Given the description of an element on the screen output the (x, y) to click on. 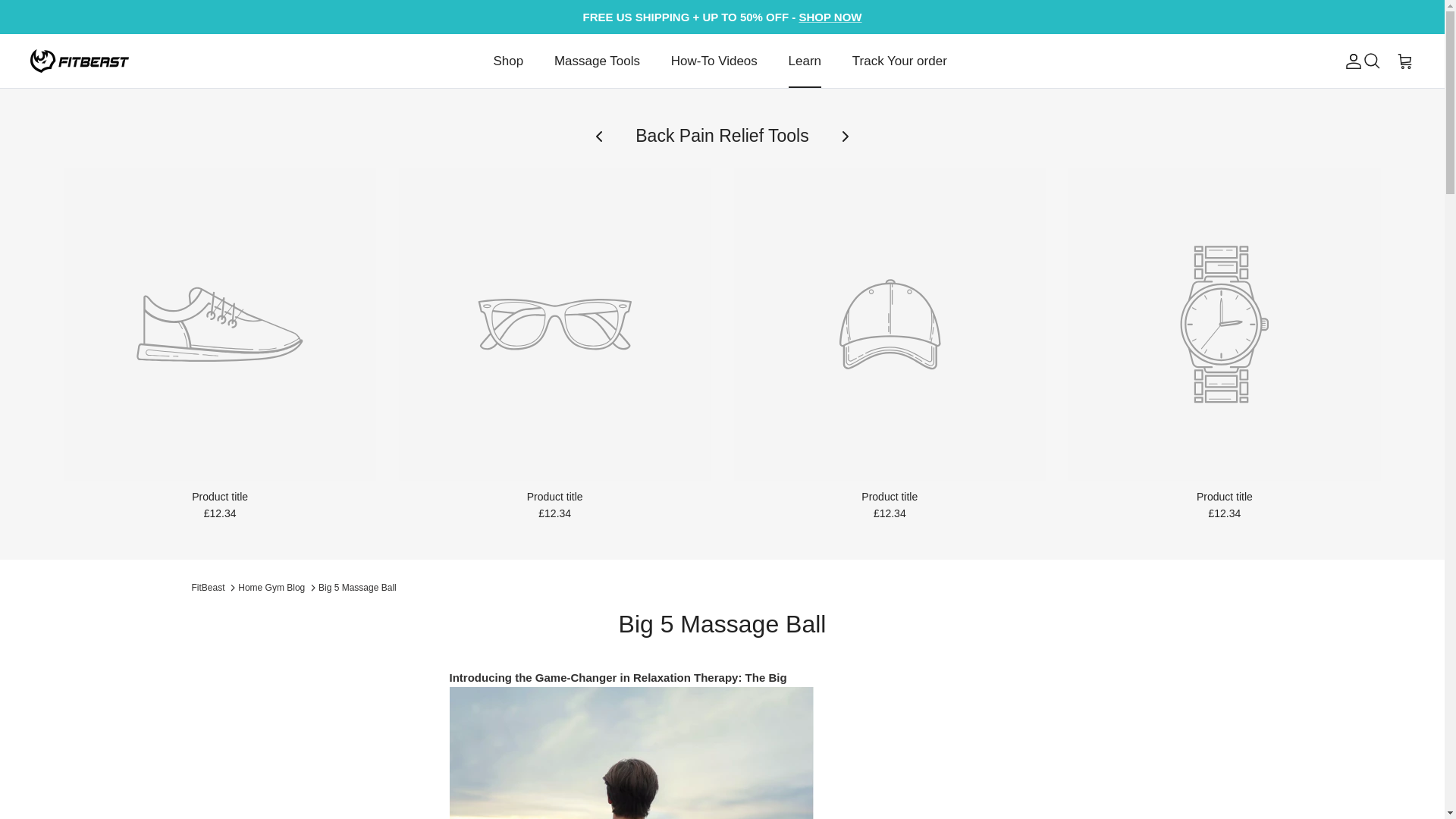
Massage Tools (596, 61)
The Biggest Discount  of The Year (829, 16)
Search (1371, 61)
Track Your order (899, 61)
How-To Videos (714, 61)
Learn (804, 61)
SHOP NOW (829, 16)
FitBeast (79, 60)
Shop (508, 61)
